Given the description of an element on the screen output the (x, y) to click on. 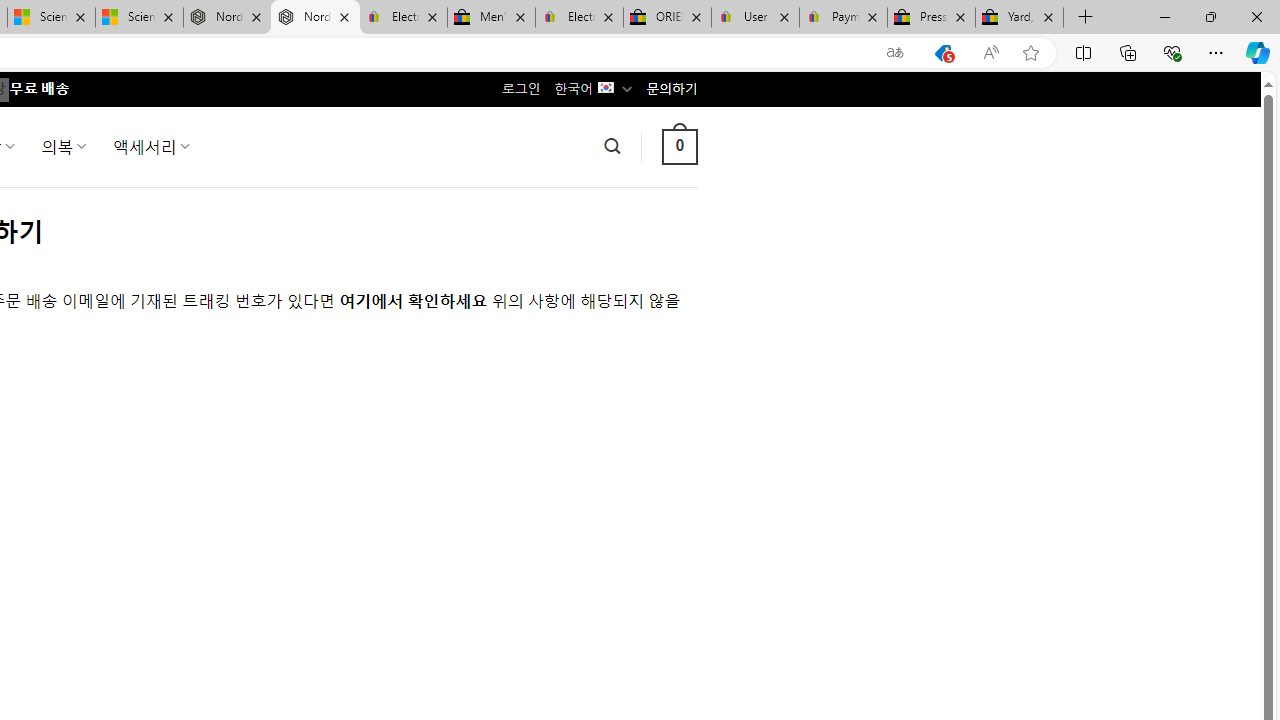
Payments Terms of Use | eBay.com (843, 17)
This site has coupons! Shopping in Microsoft Edge, 5 (943, 53)
Show translate options (895, 53)
Yard, Garden & Outdoor Living (1019, 17)
